Given the description of an element on the screen output the (x, y) to click on. 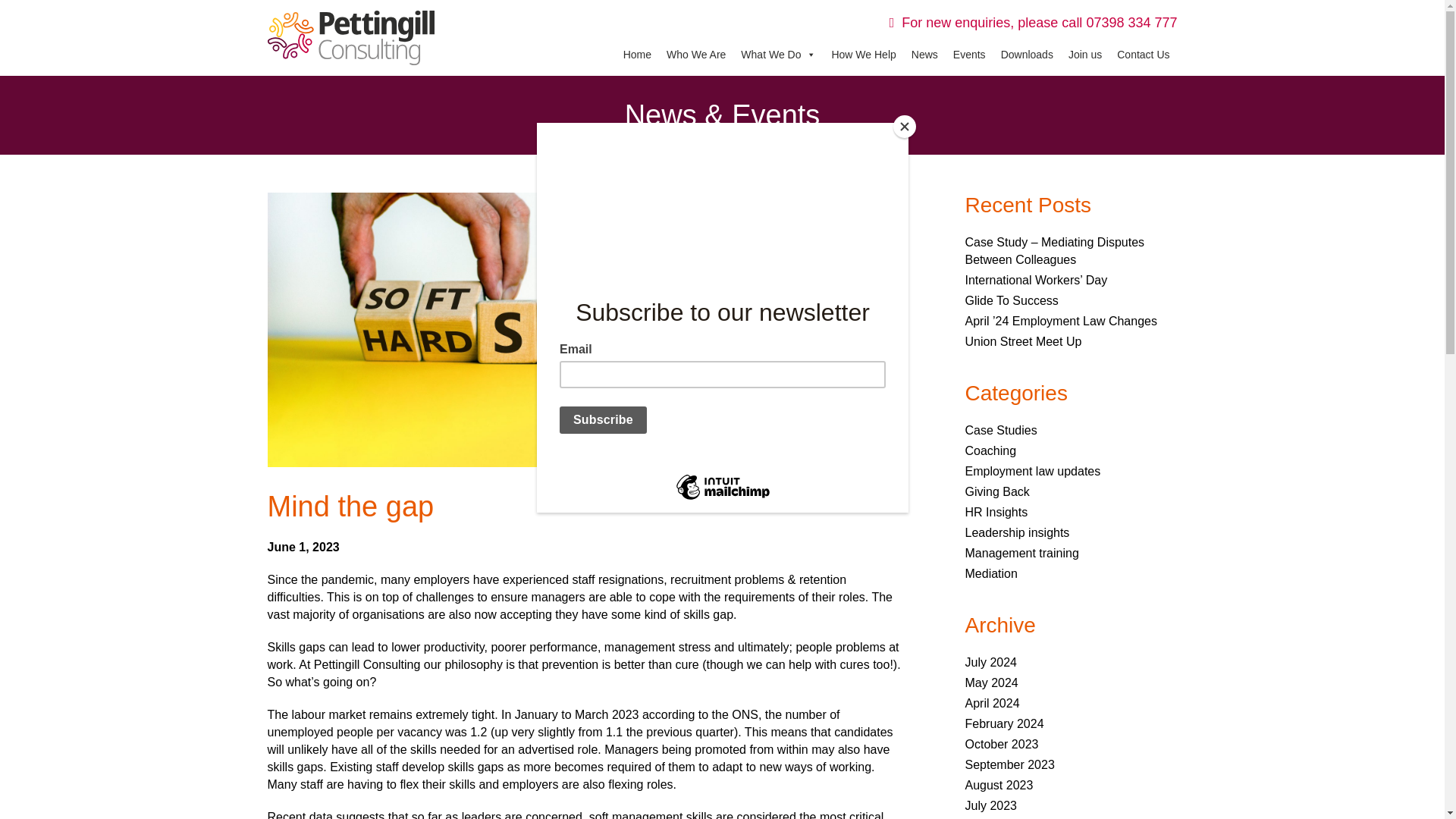
Employment law updates (1031, 471)
Union Street Meet Up (1022, 341)
News (924, 55)
Downloads (1026, 55)
Contact Us (1142, 55)
07398 334 777 (1131, 22)
How We Help (863, 55)
Leadership insights (1015, 532)
Events (968, 55)
Coaching (989, 450)
Giving Back (996, 491)
Home (637, 55)
HR Insights (995, 512)
Glide To Success (1010, 300)
What We Do (778, 55)
